Given the description of an element on the screen output the (x, y) to click on. 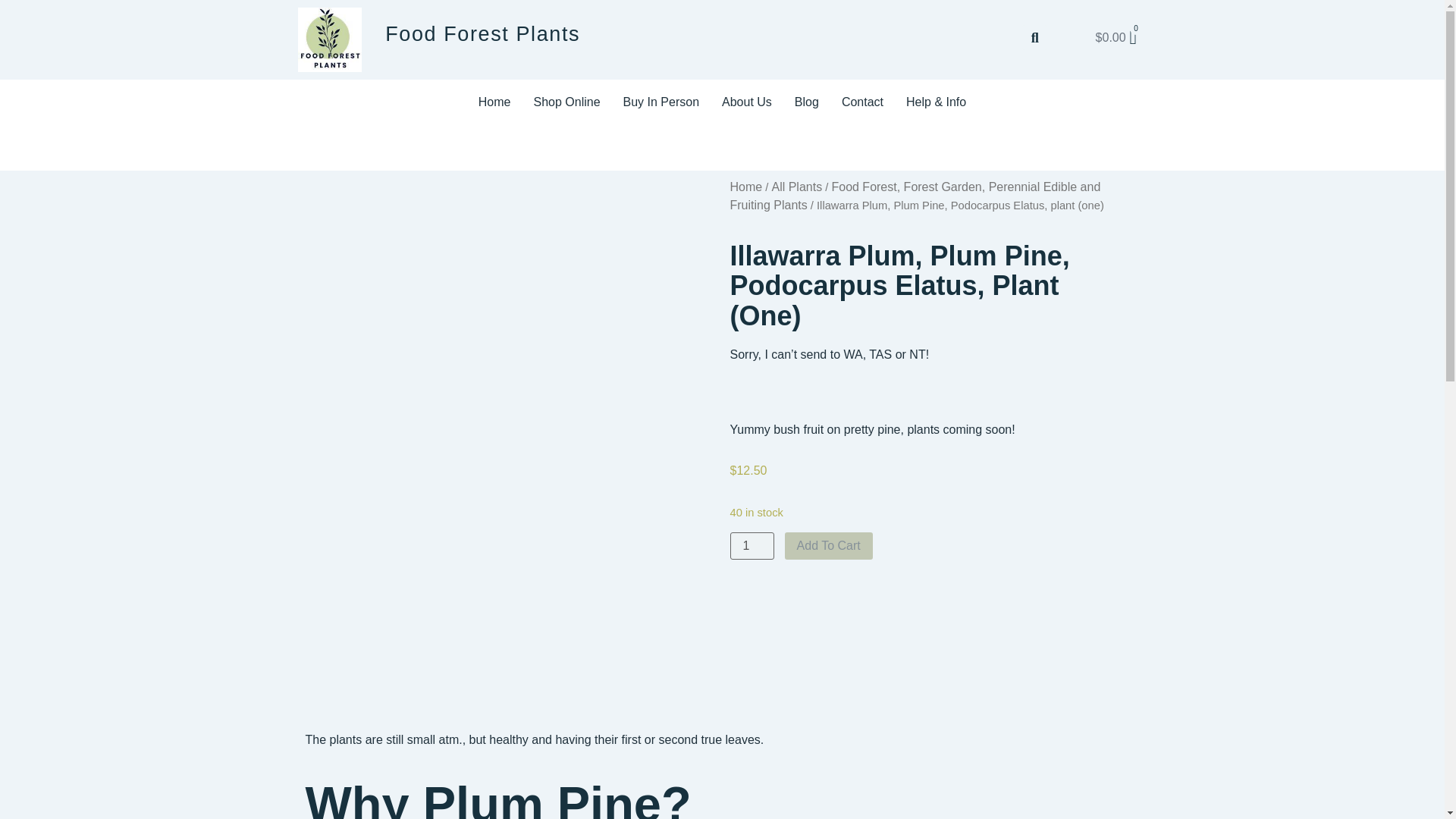
About Us (746, 102)
Home (495, 102)
Contact (862, 102)
Buy In Person (661, 102)
Blog (806, 102)
Shop Online (565, 102)
1 (751, 545)
